Given the description of an element on the screen output the (x, y) to click on. 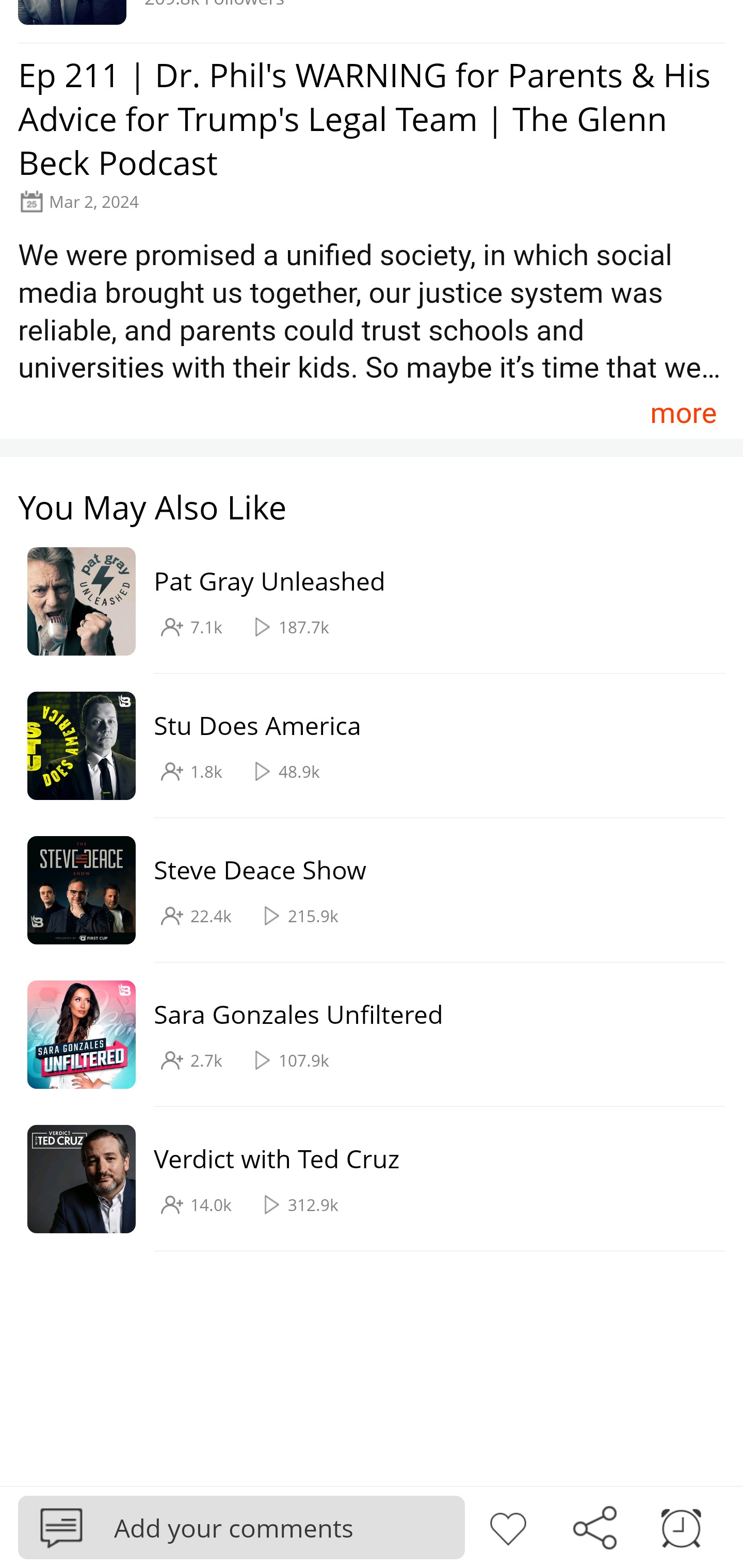
more (682, 412)
Pat Gray Unleashed 7.1k 187.7k (362, 601)
Stu Does America 1.8k 48.9k (362, 746)
Steve Deace Show 22.4k 215.9k (362, 890)
Sara Gonzales Unfiltered 2.7k 107.9k (362, 1034)
Verdict with Ted Cruz 14.0k 312.9k (362, 1179)
Like (508, 1526)
Share (594, 1526)
Sleep timer (681, 1526)
Podbean Add your comments (241, 1526)
